Given the description of an element on the screen output the (x, y) to click on. 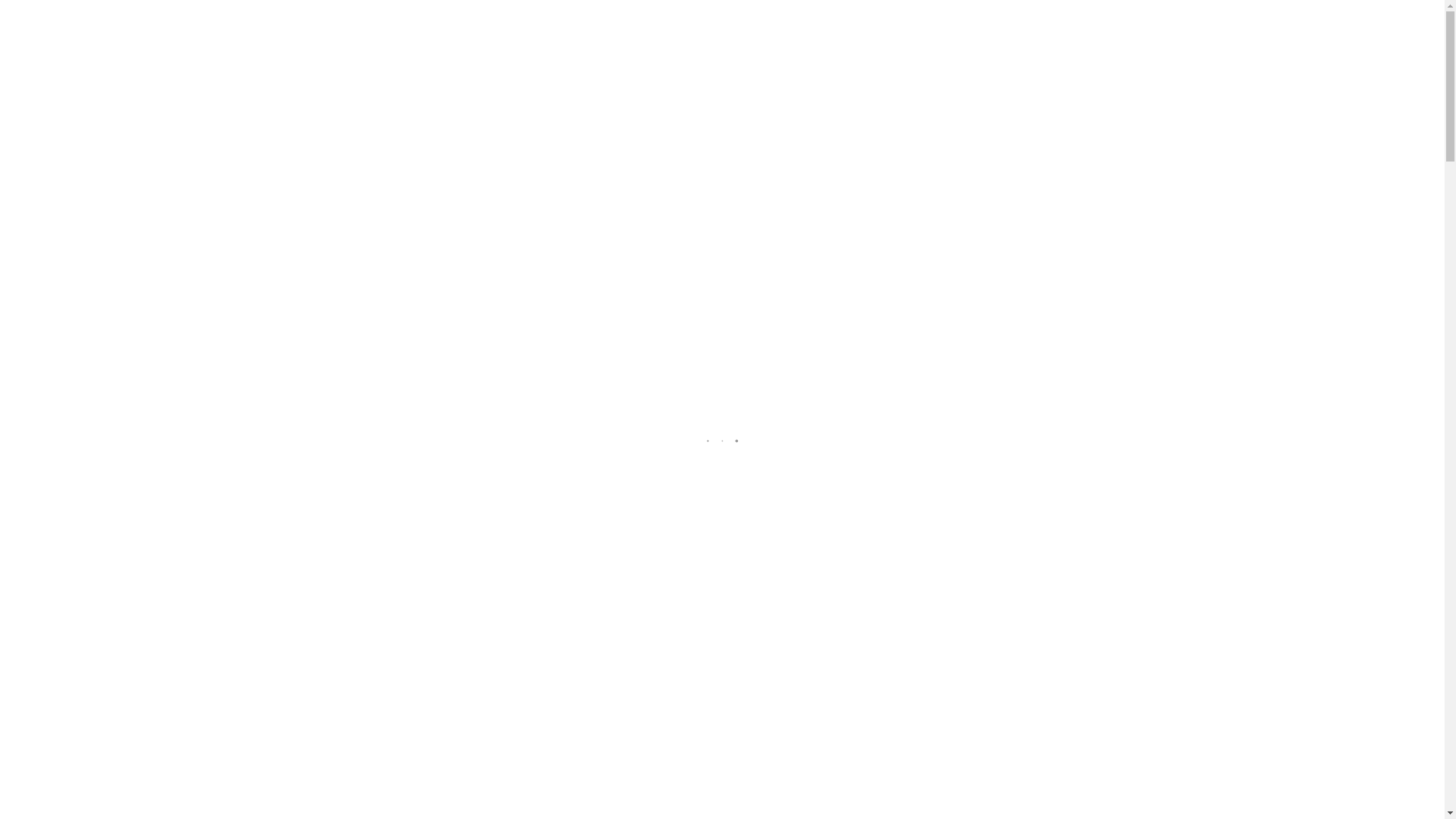
info@1stclassmovingmn.com Element type: text (303, 7)
612-605-9194 Element type: text (171, 7)
